Given the description of an element on the screen output the (x, y) to click on. 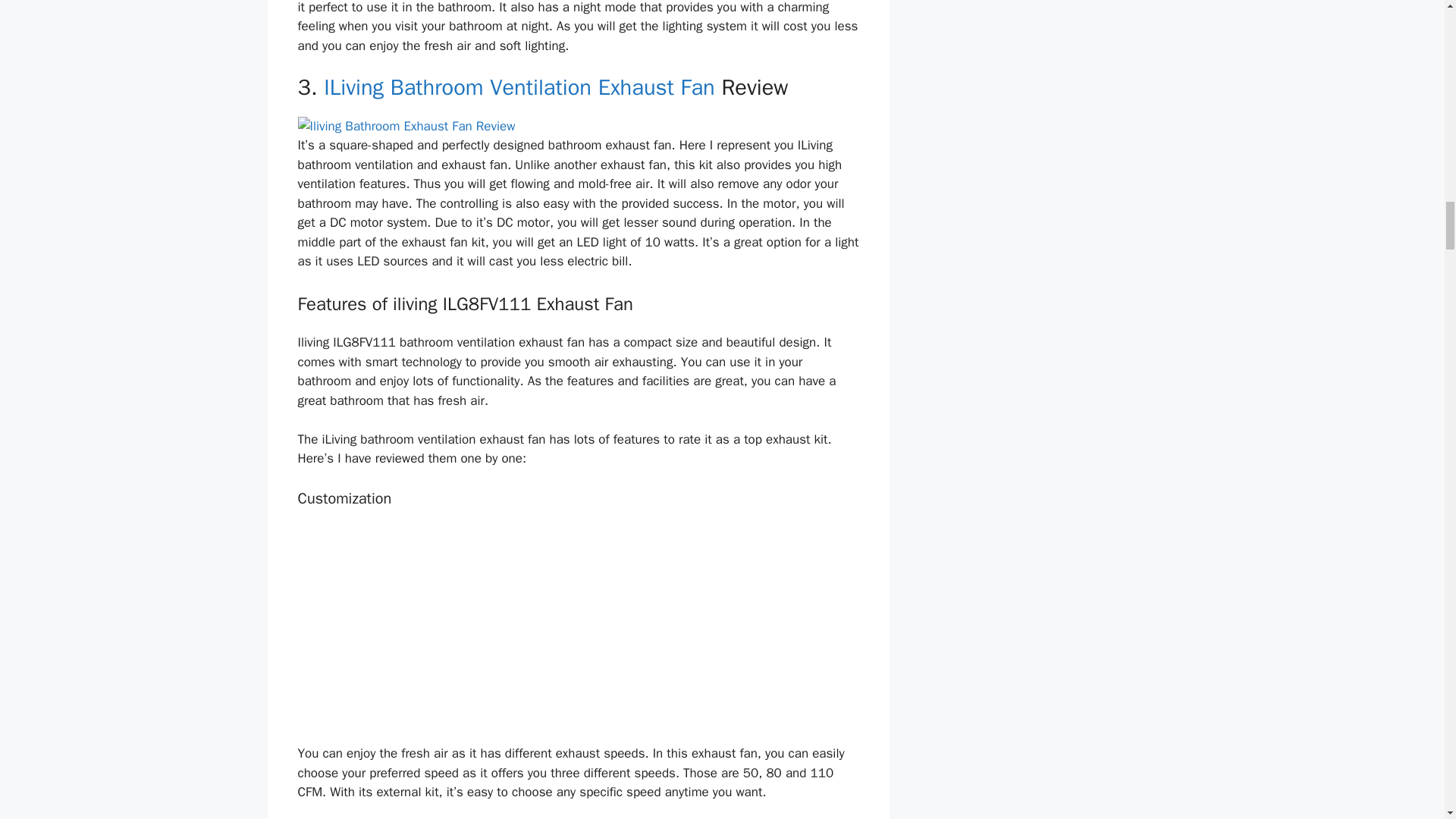
ILiving Bathroom Ventilation Exhaust Fan (518, 87)
